Given the description of an element on the screen output the (x, y) to click on. 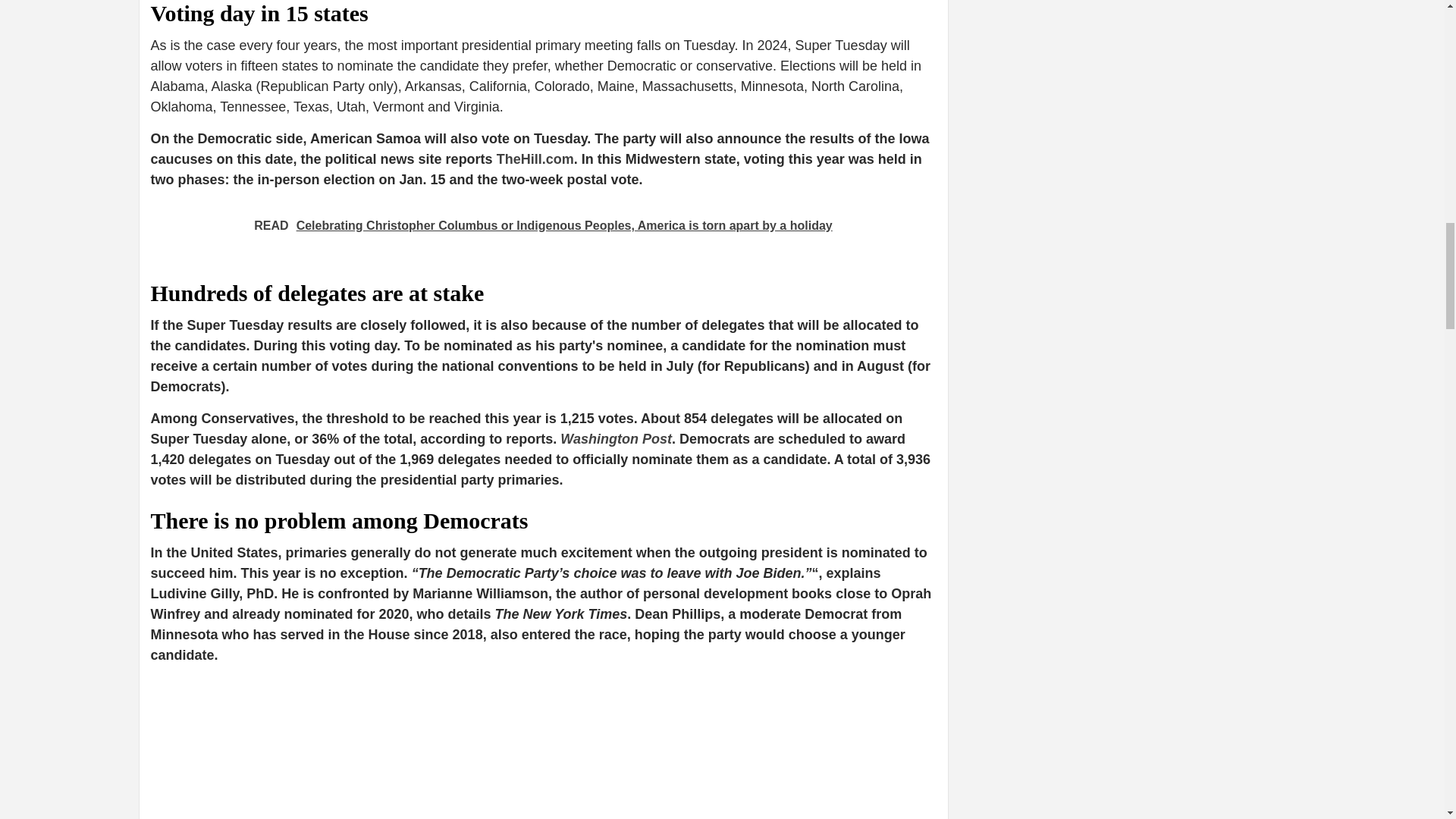
TheHill.com (534, 159)
Washington Post (615, 438)
